Given the description of an element on the screen output the (x, y) to click on. 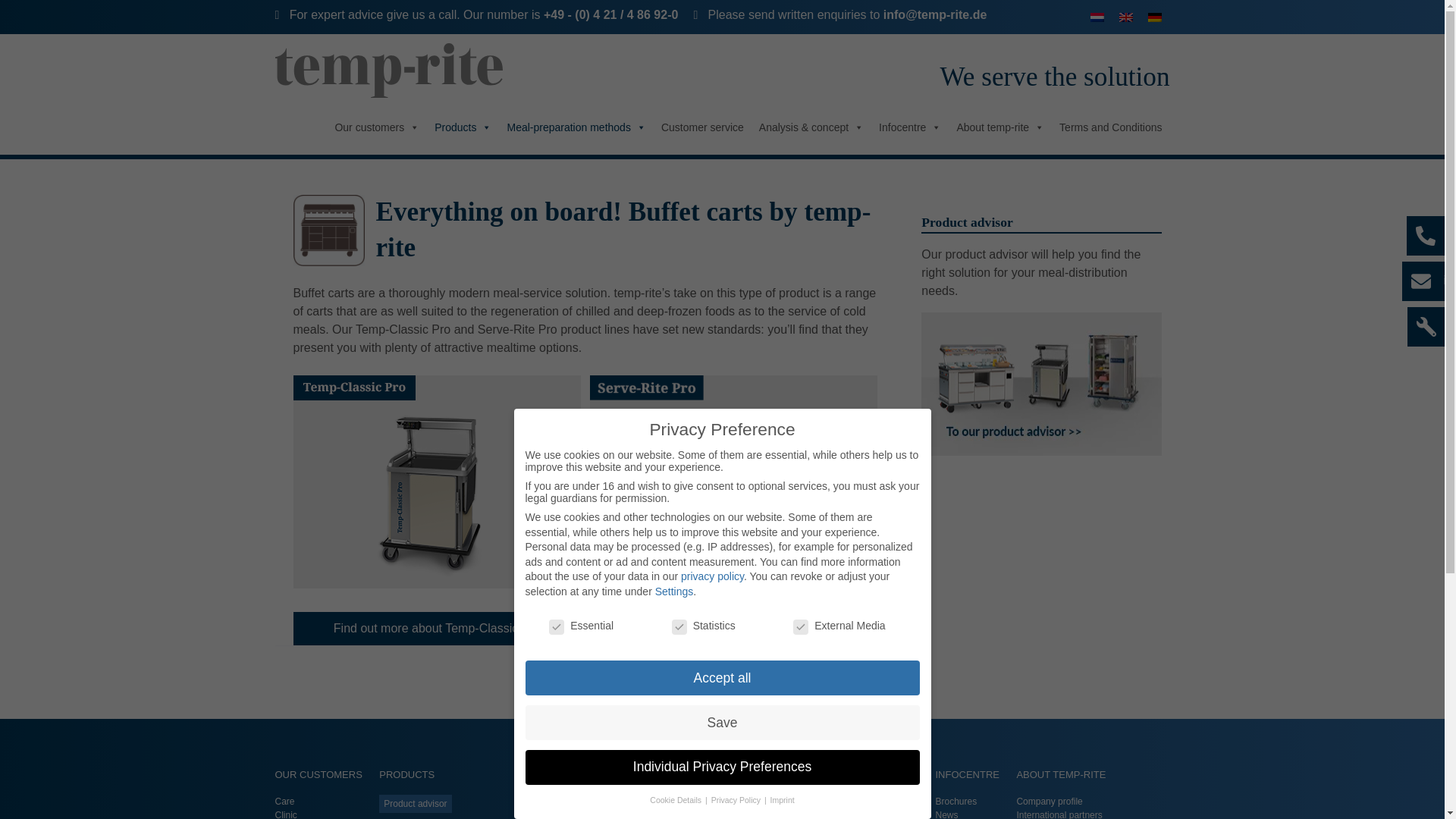
Products (462, 127)
Our customers (376, 127)
